Given the description of an element on the screen output the (x, y) to click on. 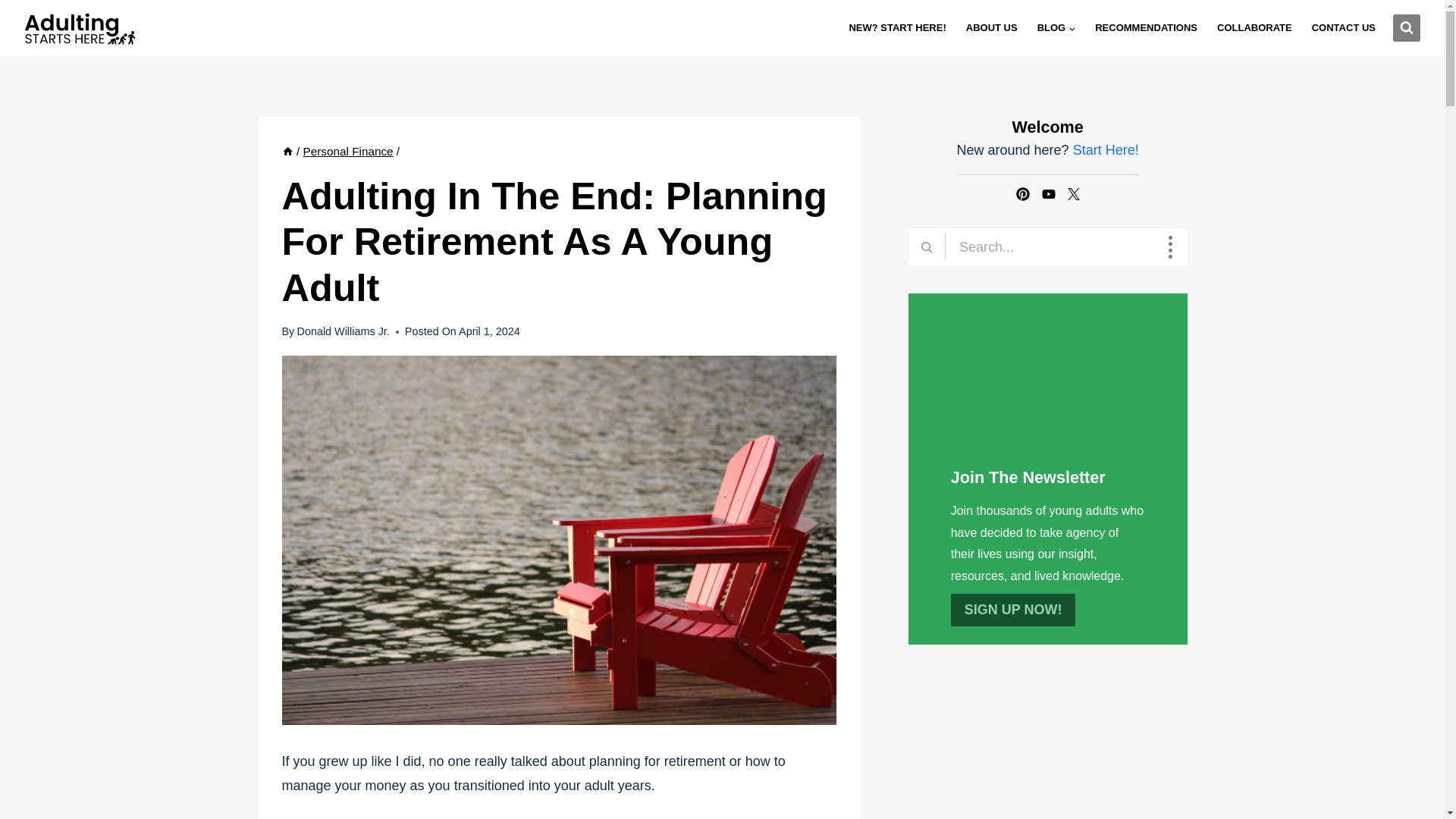
CONTACT US (1343, 27)
Donald Williams Jr. (342, 331)
Personal Finance (347, 151)
NEW? START HERE! (896, 27)
RECOMMENDATIONS (1145, 27)
ABOUT US (991, 27)
COLLABORATE (1254, 27)
BLOG (1056, 27)
